Given the description of an element on the screen output the (x, y) to click on. 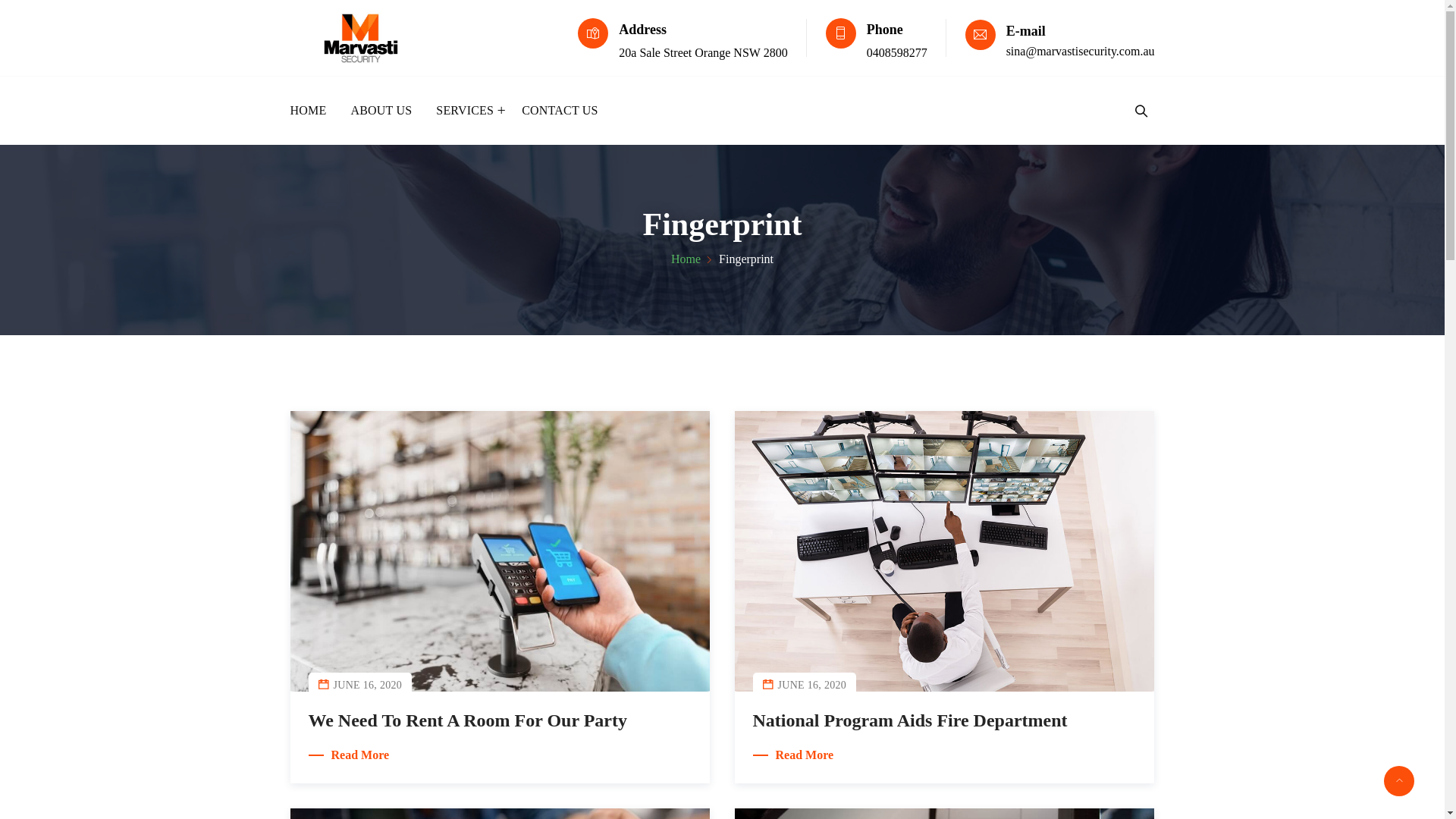
National Program Aids Fire Department Element type: text (909, 720)
JUNE 16, 2020 Element type: text (812, 684)
Marvasti Security Element type: hover (360, 38)
HOME Element type: text (313, 110)
Home Element type: text (693, 258)
CONTACT US Element type: text (553, 110)
0408598277 Element type: text (896, 52)
JUNE 16, 2020 Element type: text (367, 684)
We Need To Rent A Room For Our Party Element type: text (466, 720)
Read More Element type: text (792, 754)
sina@marvastisecurity.com.au Element type: text (1080, 50)
SERVICES Element type: text (466, 110)
Read More Element type: text (348, 754)
ABOUT US Element type: text (380, 110)
